Given the description of an element on the screen output the (x, y) to click on. 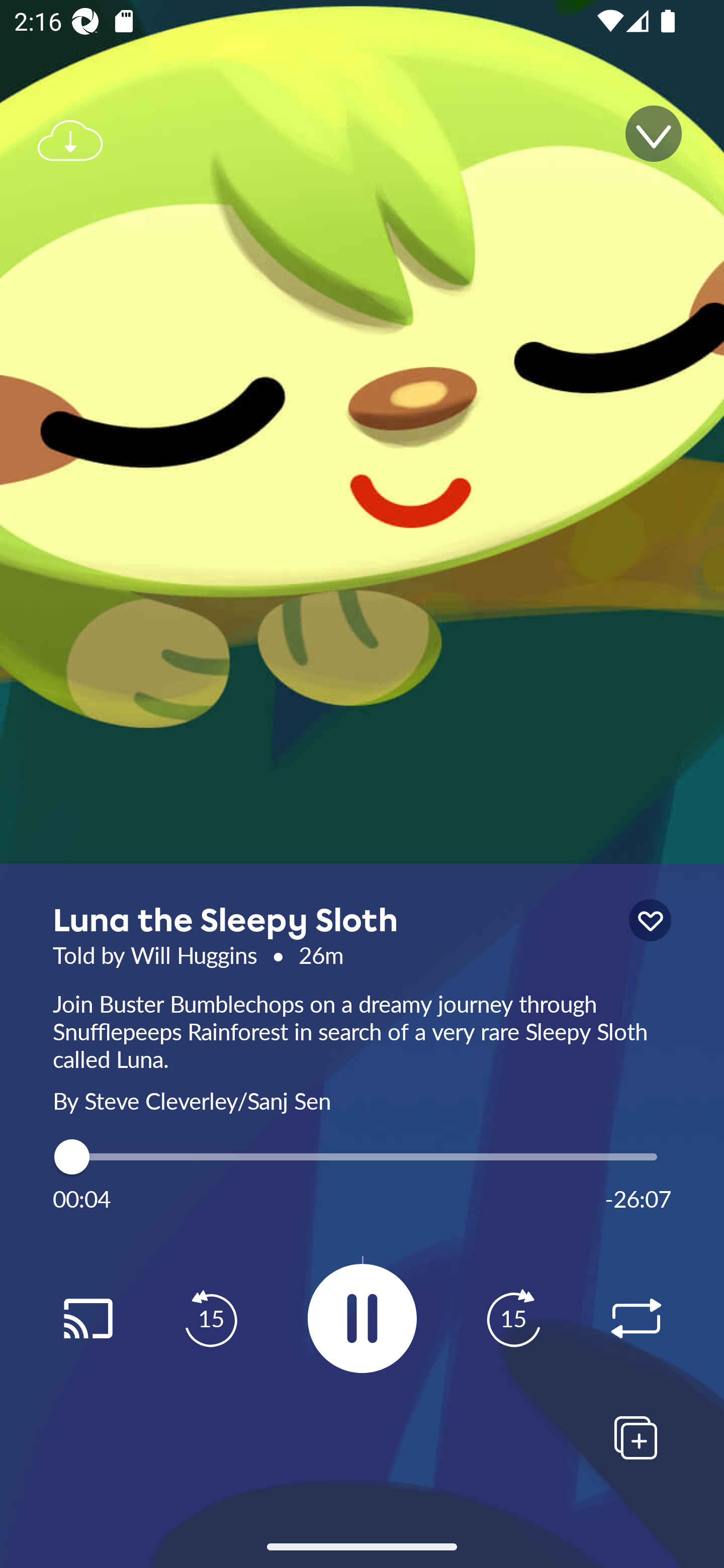
lock icon (650, 920)
0.002807888 Pause (361, 1317)
Replay (87, 1318)
Replay 15 (210, 1318)
Replay 15 (513, 1318)
Replay (635, 1318)
Add To Playlists (635, 1437)
